Given the description of an element on the screen output the (x, y) to click on. 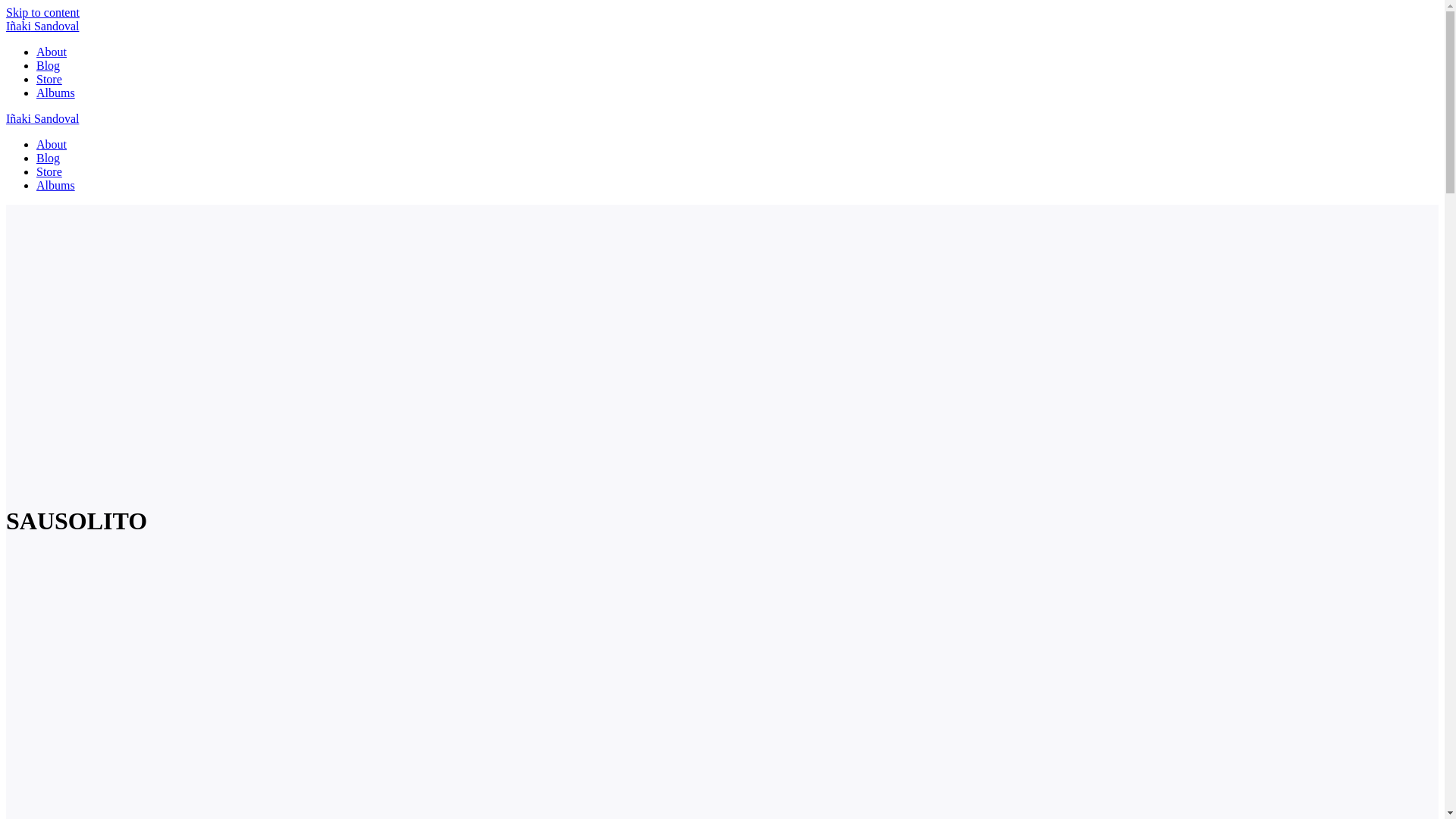
About (51, 51)
Store (49, 171)
Store (49, 78)
About (51, 144)
Blog (47, 65)
Blog (47, 157)
Albums (55, 92)
Skip to content (42, 11)
Albums (55, 185)
